Given the description of an element on the screen output the (x, y) to click on. 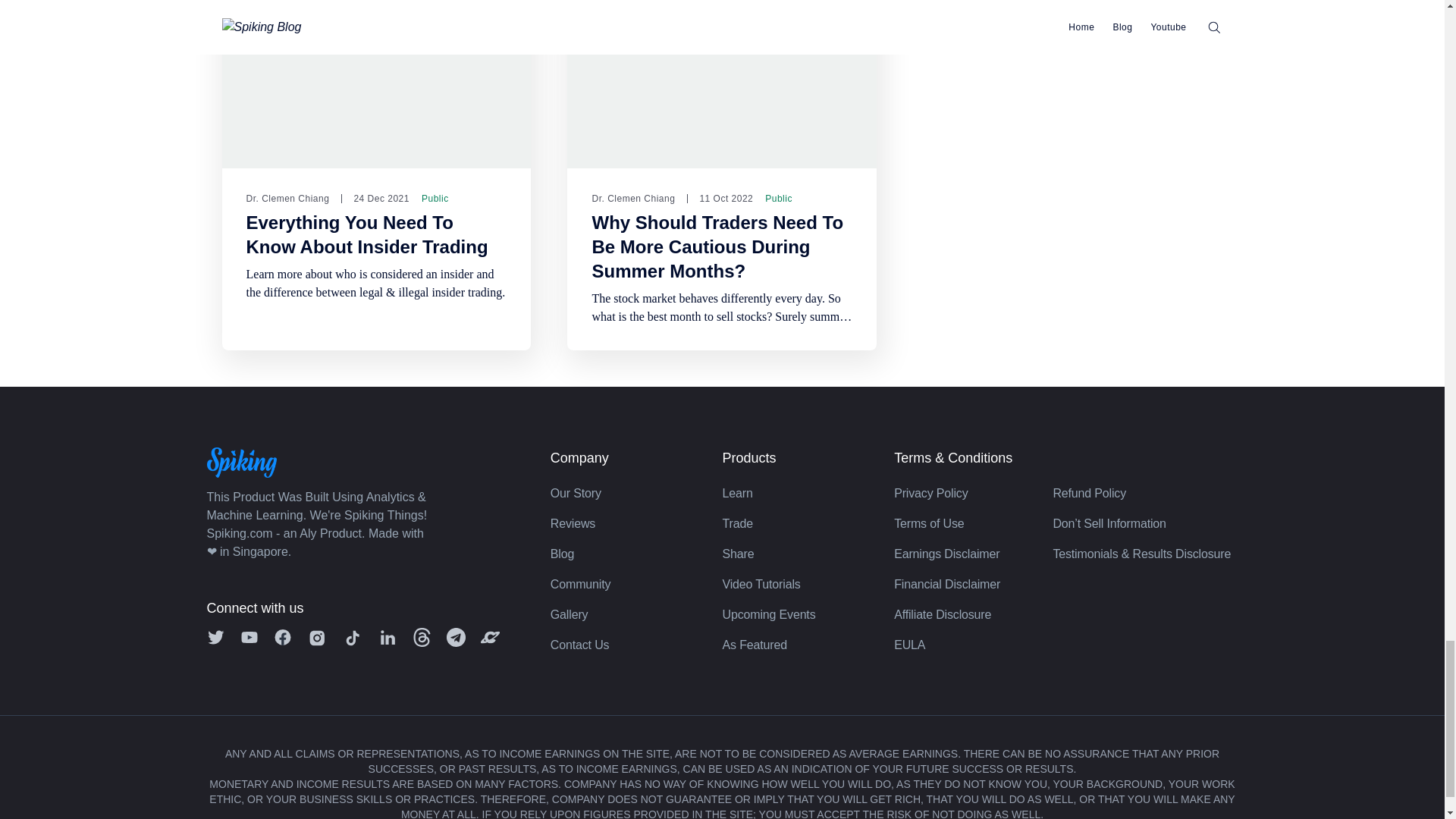
Everything You Need To Know About Insider Trading (366, 234)
Dr. Clemen Chiang (287, 198)
Dr. Clemen Chiang (633, 198)
